Given the description of an element on the screen output the (x, y) to click on. 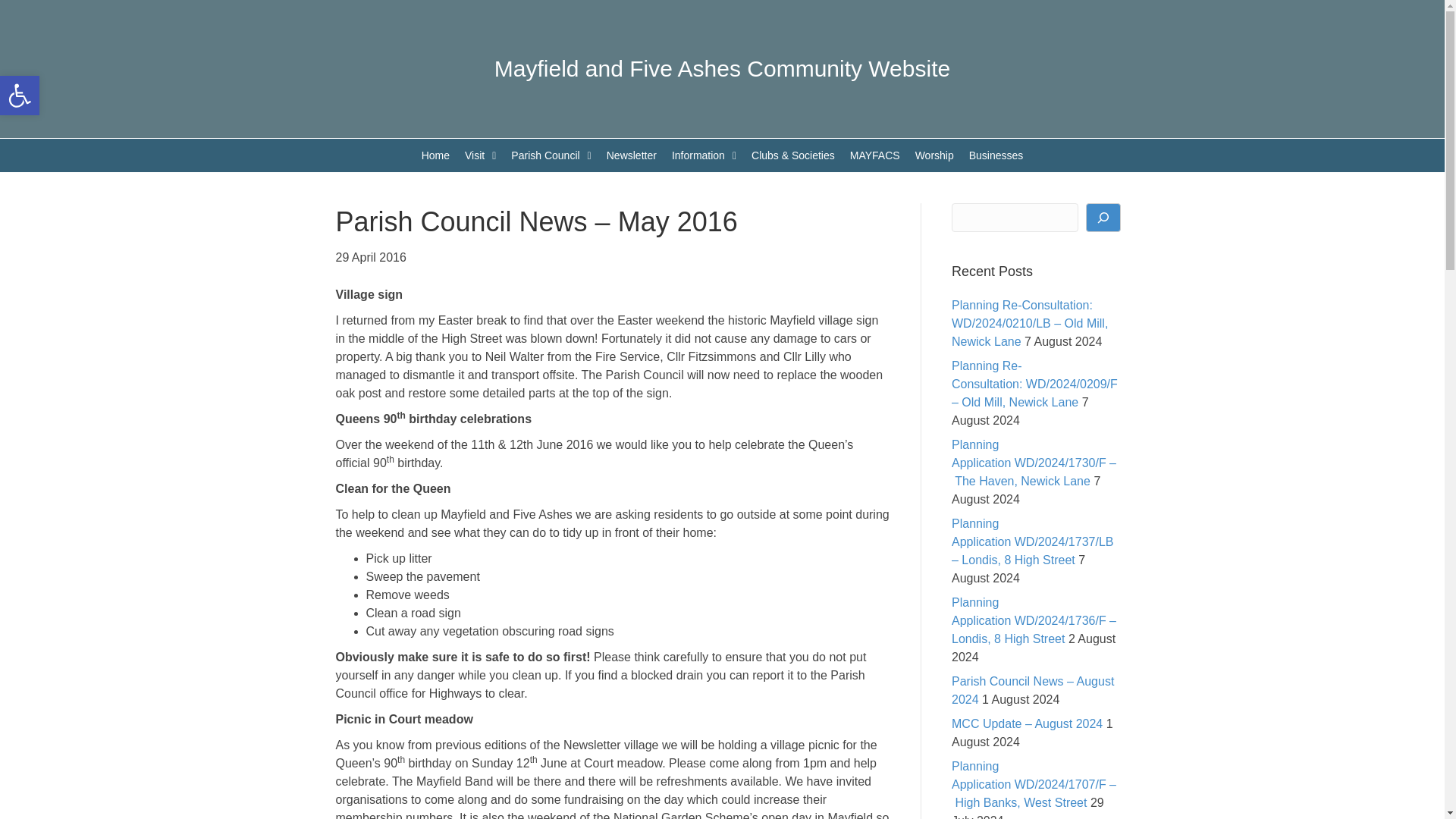
Visit (480, 154)
Accessibility Tools (19, 95)
Home (19, 95)
Parish Council (435, 154)
Mayfield and Five Ashes Community Website (550, 154)
Accessibility Tools (722, 68)
Mayfield and Five Ashes Community Website (19, 95)
